Given the description of an element on the screen output the (x, y) to click on. 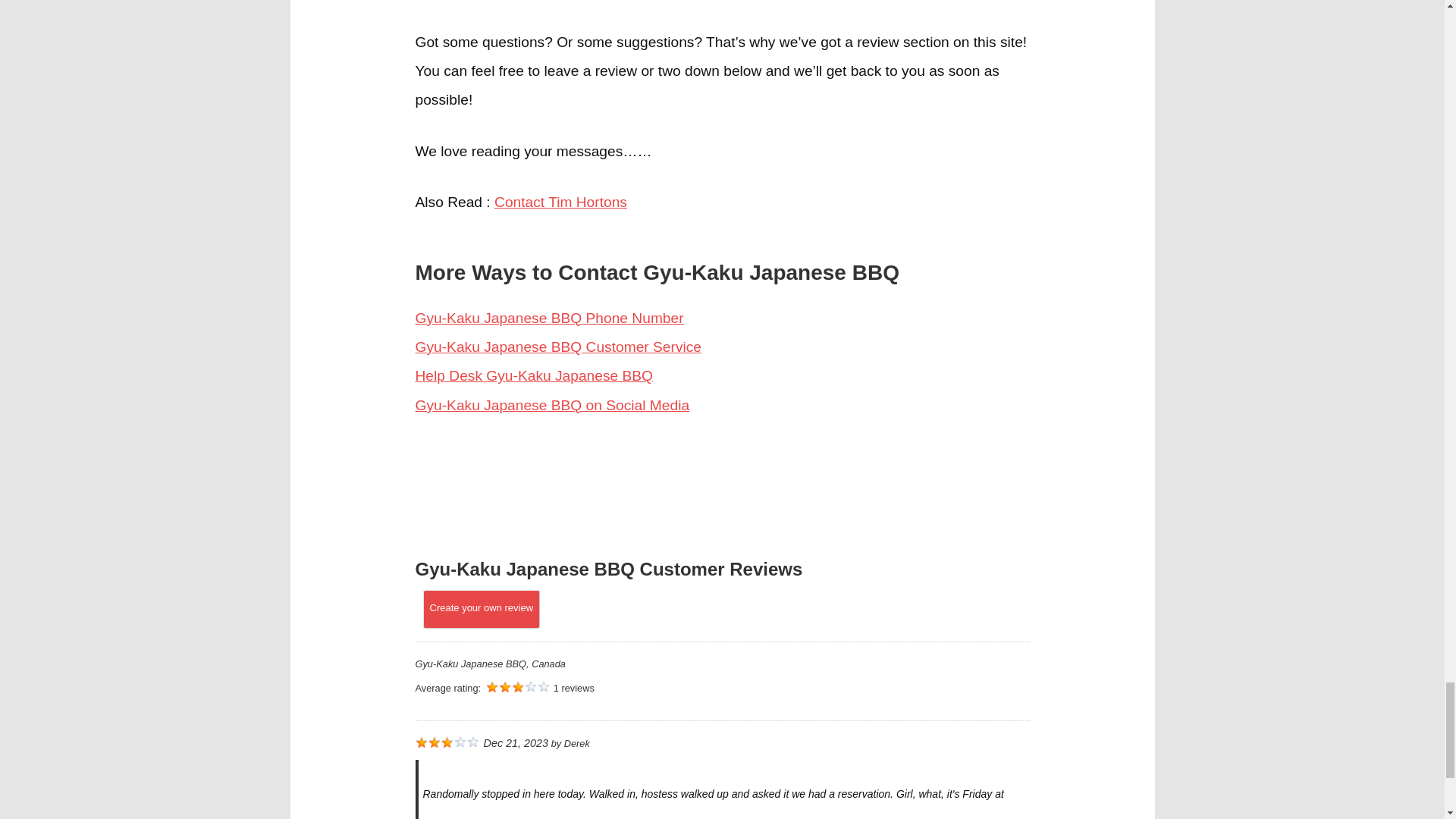
Gyu-Kaku Japanese BBQ on Social Media (552, 405)
Help Desk Gyu-Kaku Japanese BBQ (533, 375)
Gyu-Kaku Japanese BBQ Customer Service (557, 346)
Contact Tim Hortons (561, 201)
Gyu-Kaku Japanese BBQ Phone Number (549, 317)
